Given the description of an element on the screen output the (x, y) to click on. 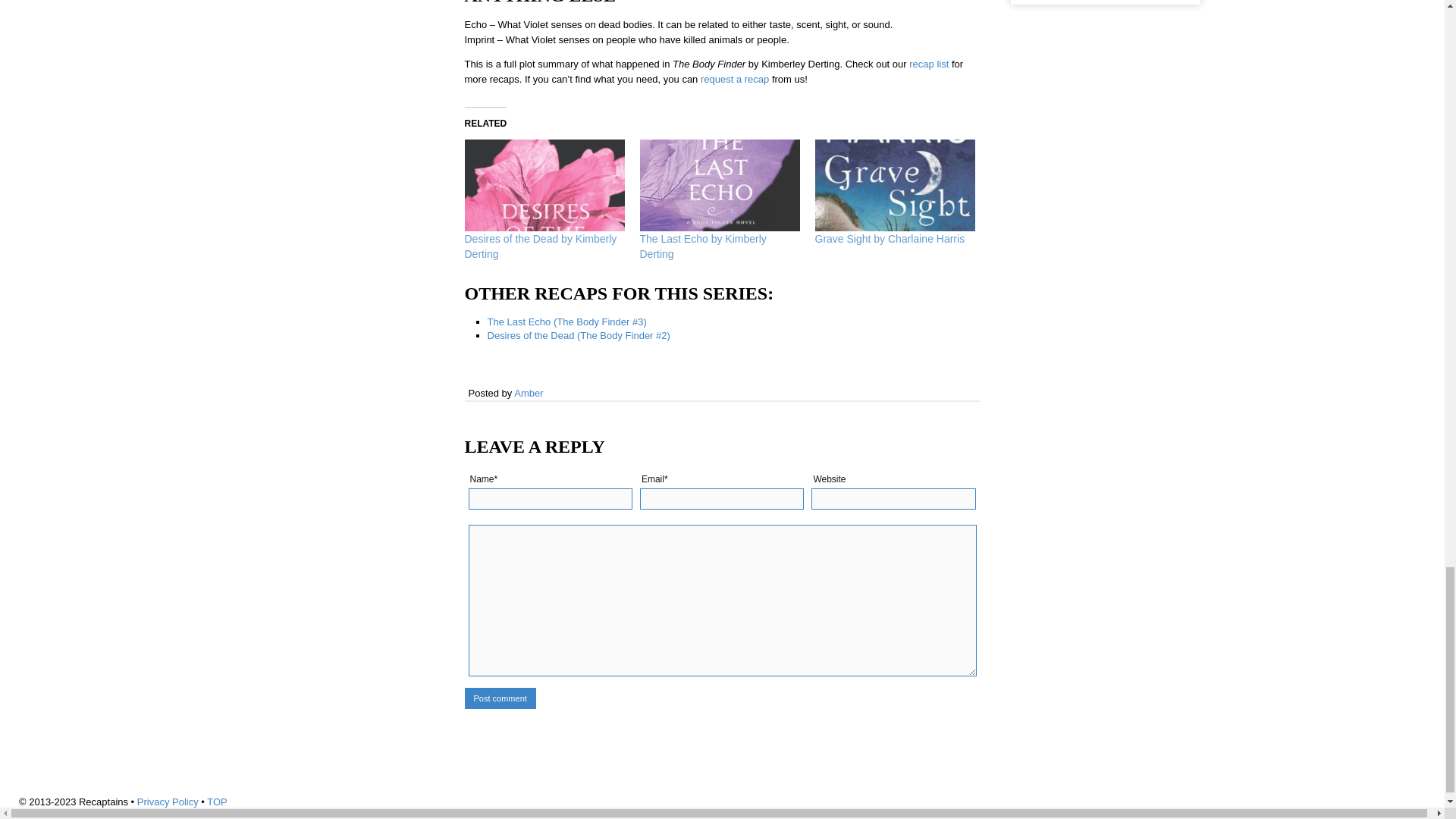
Post comment (499, 698)
Desires of the Dead by Kimberly Derting (539, 246)
Grave Sight by Charlaine Harris (888, 238)
The Last Echo by Kimberly Derting (719, 184)
Desires of the Dead by Kimberly Derting (539, 246)
Grave Sight by Charlaine Harris (893, 184)
The Last Echo by Kimberly Derting (703, 246)
recap list (928, 63)
Post comment (499, 698)
The Last Echo by Kimberly Derting (703, 246)
request a recap (734, 79)
Grave Sight by Charlaine Harris (888, 238)
Amber (528, 392)
Desires of the Dead by Kimberly Derting (544, 184)
